Given the description of an element on the screen output the (x, y) to click on. 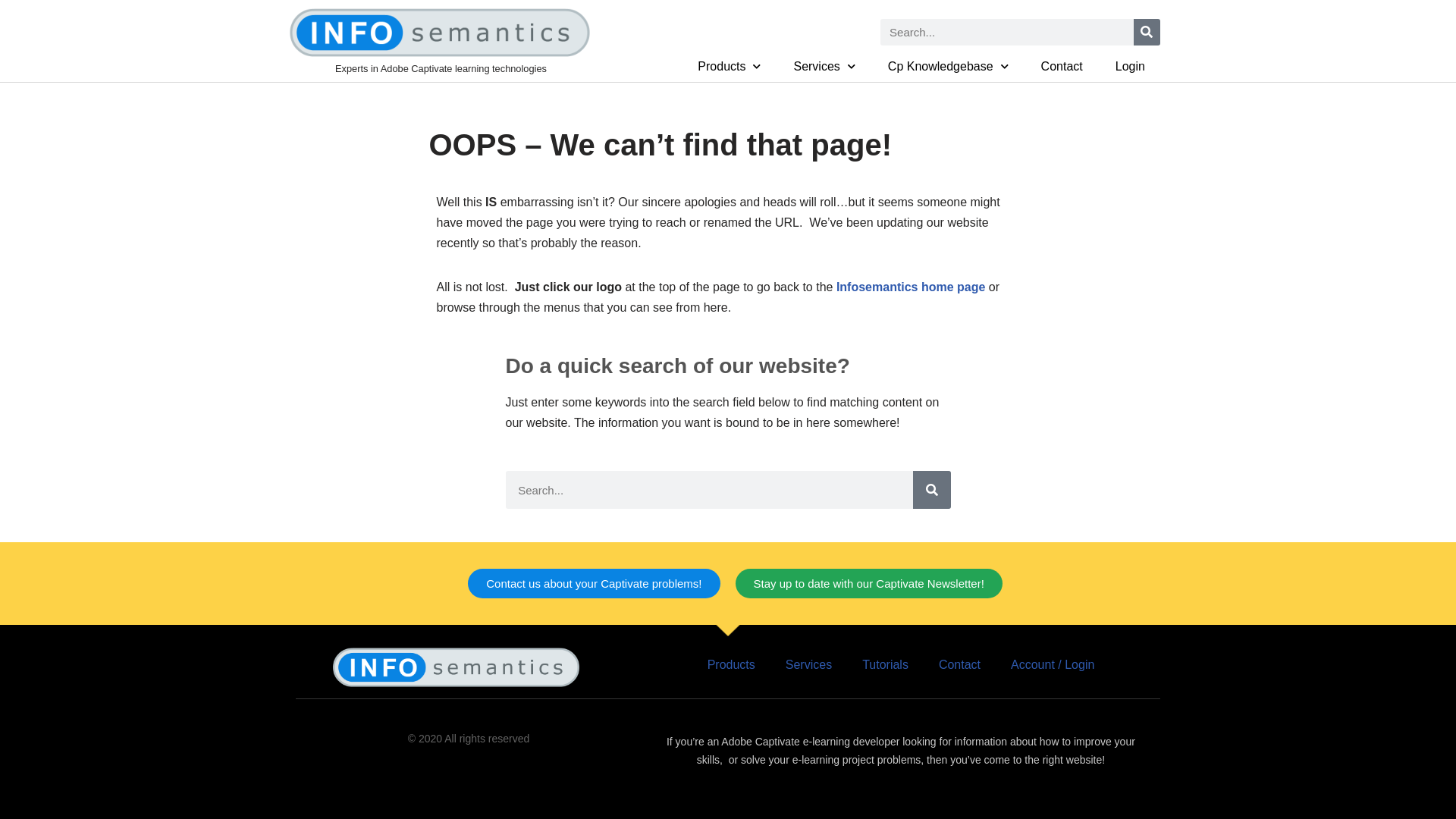
Tutorials Element type: text (885, 664)
Stay up to date with our Captivate Newsletter! Element type: text (868, 583)
Contact Element type: text (959, 664)
Cp Knowledgebase Element type: text (947, 66)
Skip to content Element type: text (11, 31)
Products Element type: text (728, 66)
Infosemantics_Logo_1000px Element type: hover (439, 32)
Infosemantics home page Element type: text (910, 286)
Account / Login Element type: text (1052, 664)
Products Element type: text (731, 664)
Login Element type: text (1130, 66)
Services Element type: text (808, 664)
Contact Element type: text (1062, 66)
Services Element type: text (823, 66)
Contact us about your Captivate problems! Element type: text (593, 583)
